Given the description of an element on the screen output the (x, y) to click on. 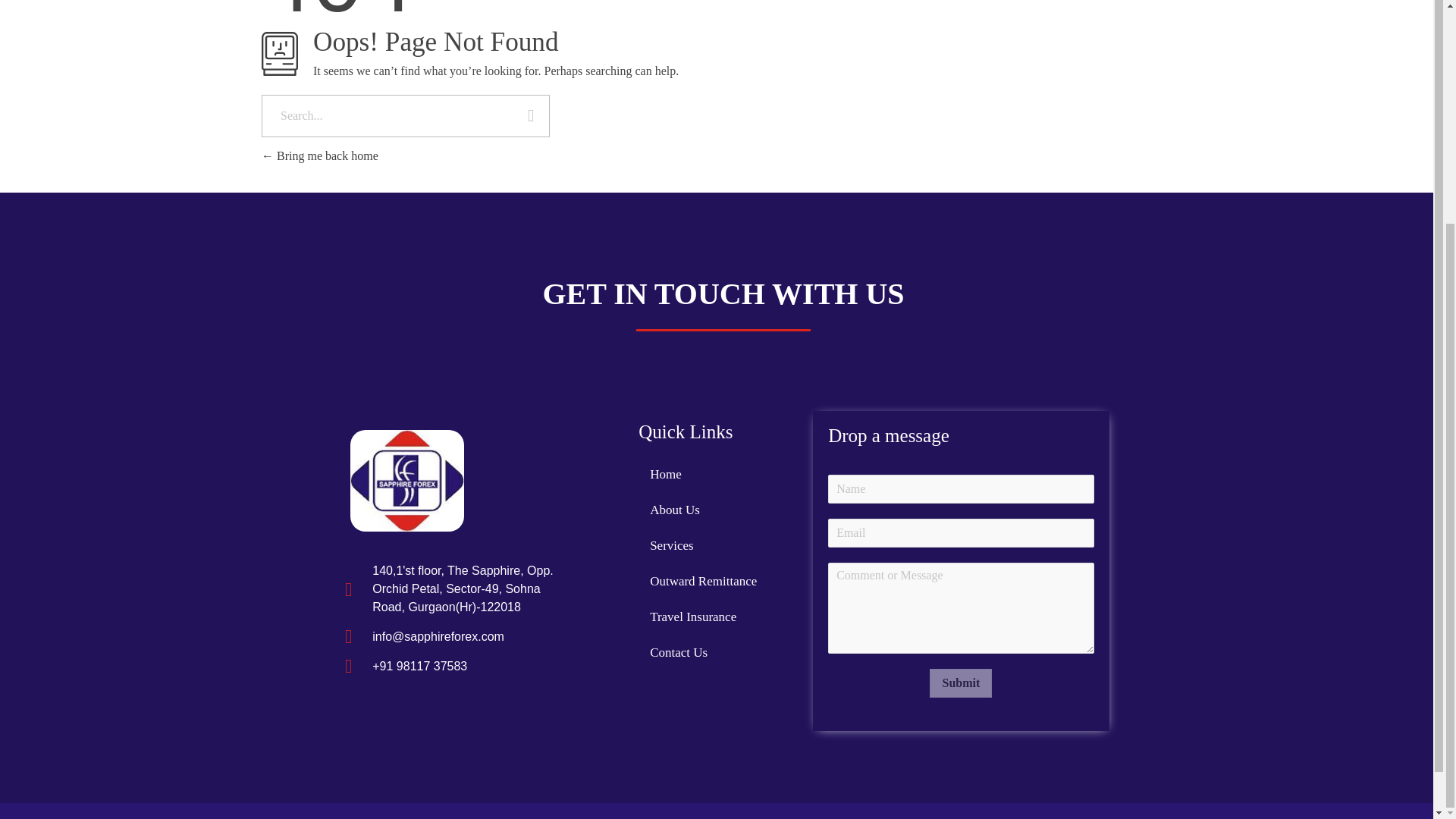
Travel Insurance (716, 616)
Outward Remittance (716, 580)
Bring me back home (320, 155)
Services (716, 545)
Home (716, 474)
Submit (960, 683)
About Us (716, 509)
Contact Us (716, 652)
